Given the description of an element on the screen output the (x, y) to click on. 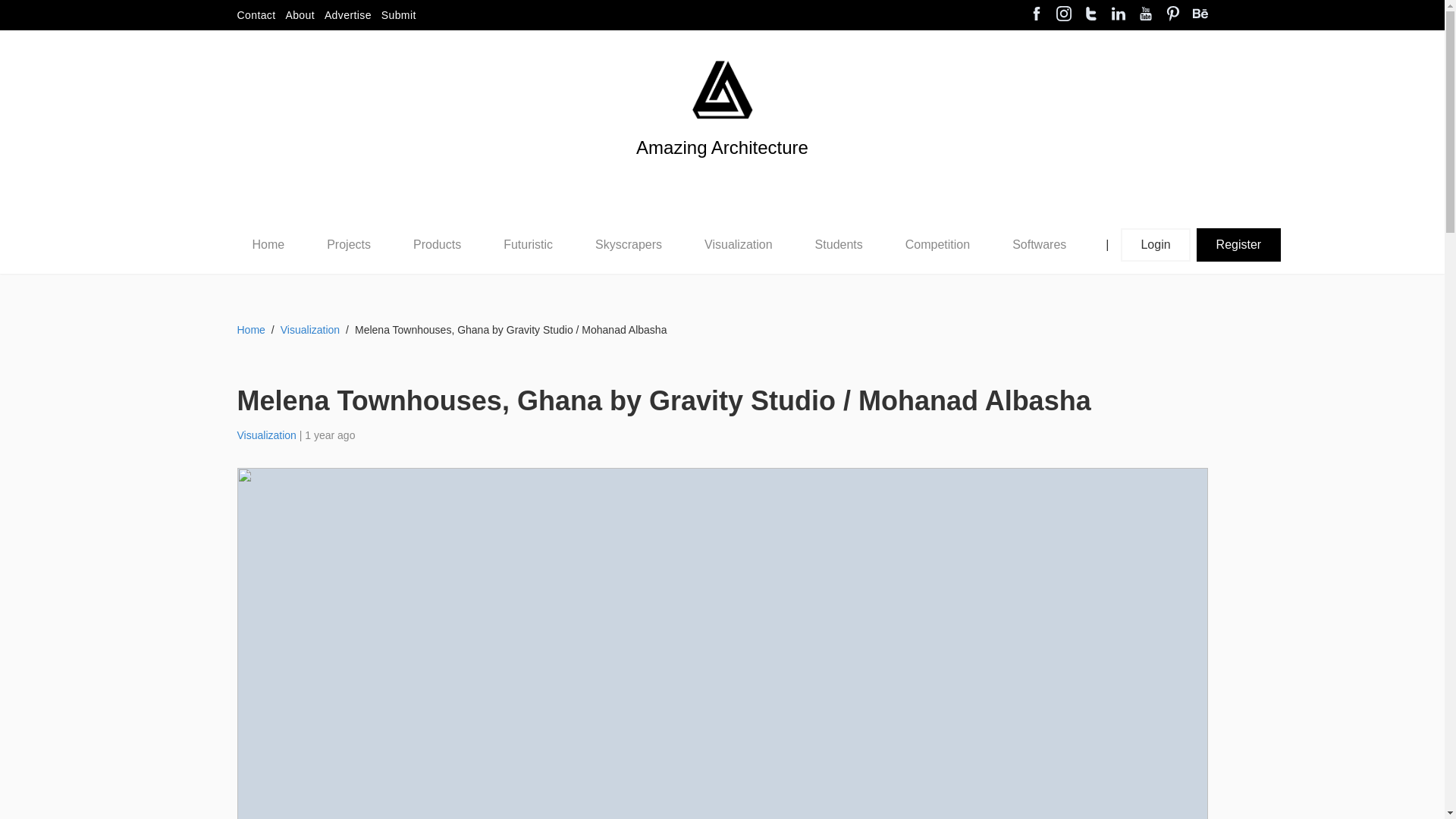
Submit page (398, 15)
Projects (348, 244)
About us page (299, 15)
Submit (398, 15)
Amazing Architecture (722, 173)
Contact (255, 15)
Visualization (738, 244)
Contact us page (255, 15)
Projects (348, 244)
Home (267, 244)
Advertise (347, 15)
Home (267, 245)
Projects (348, 245)
Products (437, 244)
Amazing Architecture (721, 88)
